Given the description of an element on the screen output the (x, y) to click on. 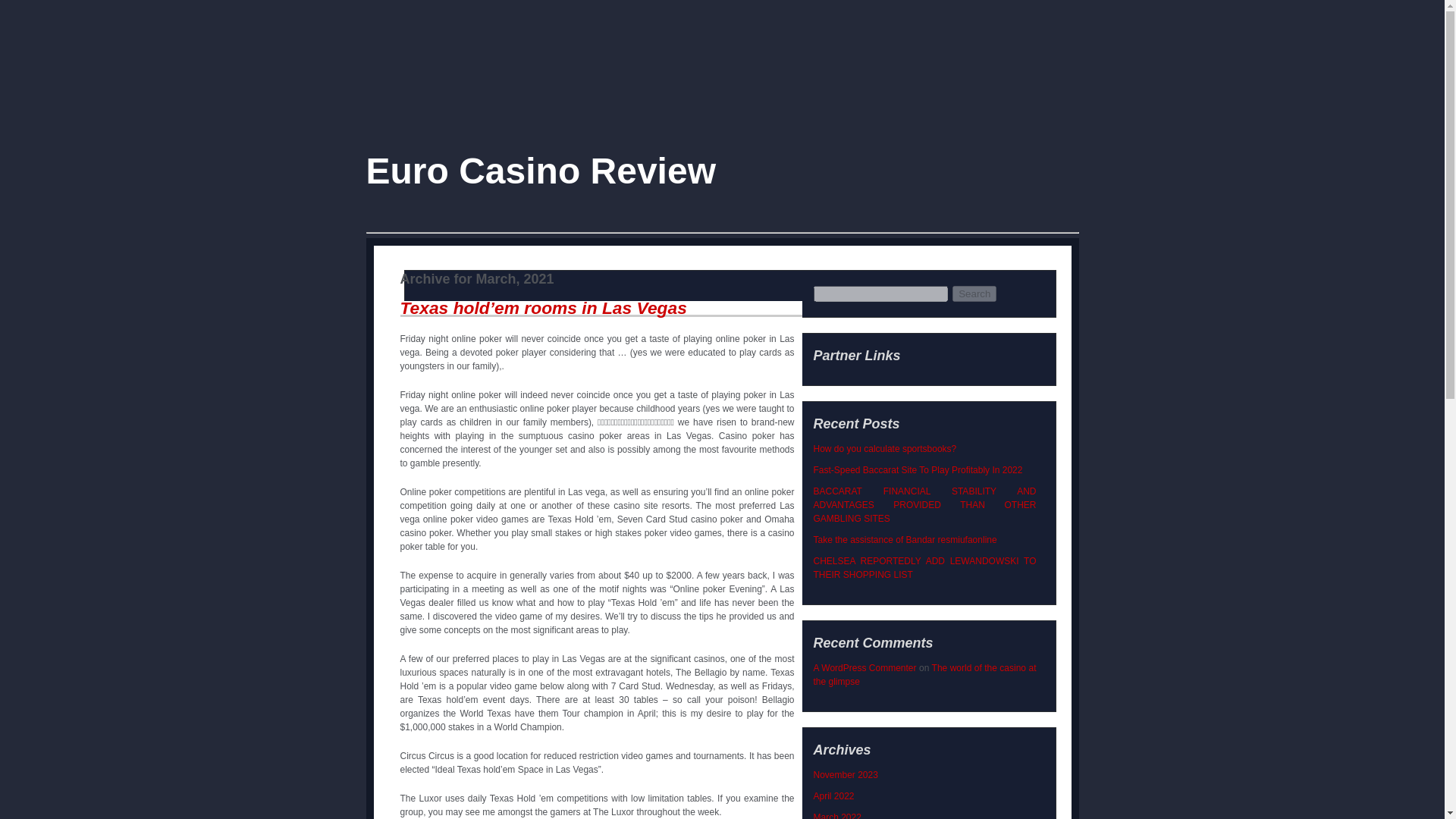
CHELSEA REPORTEDLY ADD LEWANDOWSKI TO THEIR SHOPPING LIST (923, 567)
April 2022 (832, 796)
March 2022 (836, 815)
Search (973, 293)
The world of the casino at the glimpse (923, 674)
How do you calculate sportsbooks? (884, 448)
Take the assistance of Bandar resmiufaonline (903, 539)
Euro Casino Review (539, 170)
November 2023 (844, 774)
Search (973, 293)
A WordPress Commenter (863, 667)
Fast-Speed Baccarat Site To Play Profitably In 2022 (917, 470)
